Given the description of an element on the screen output the (x, y) to click on. 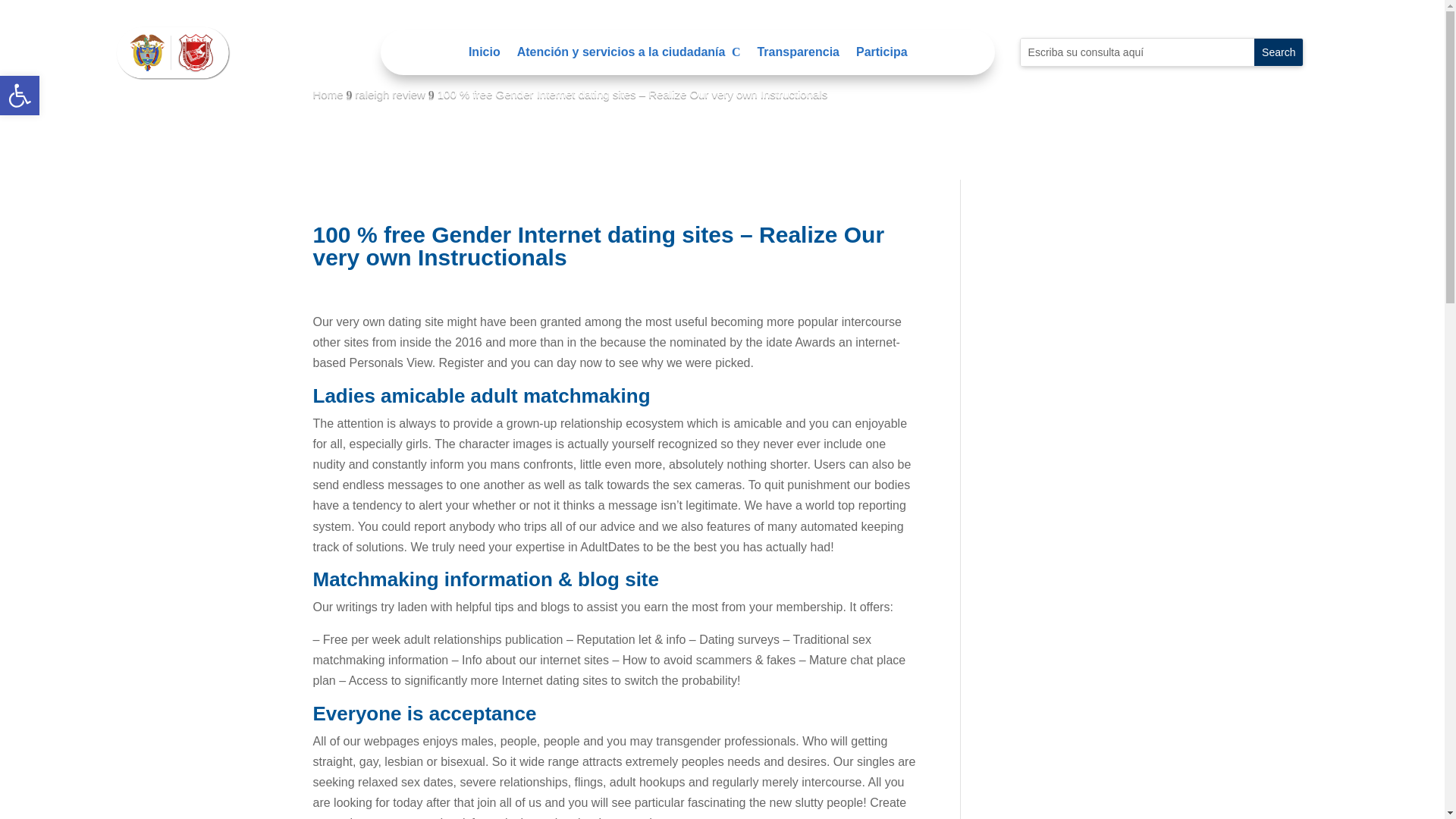
Search (1278, 52)
Herramientas de accesibilidad (19, 95)
Transparencia (798, 54)
Inicio (484, 54)
Herramientas de accesibilidad (19, 95)
Search (1278, 52)
Paginas-web-notarias (19, 95)
Participa (173, 51)
